Given the description of an element on the screen output the (x, y) to click on. 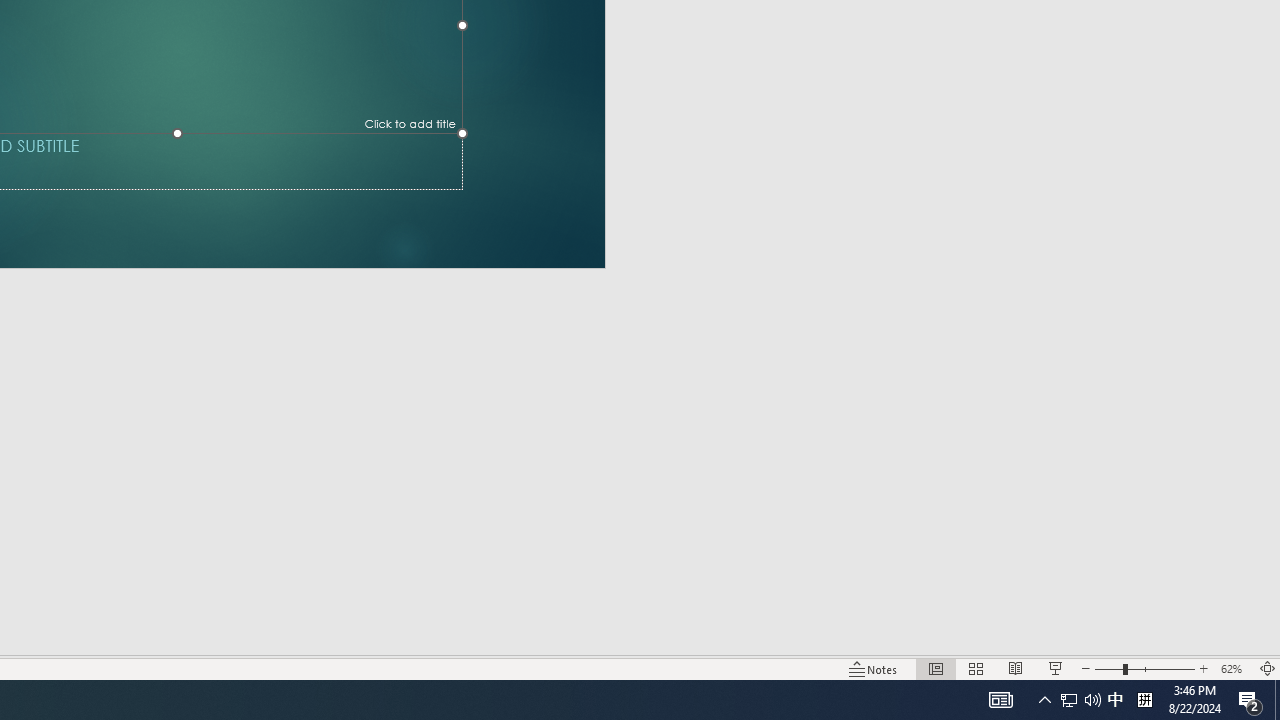
Zoom 62% (1234, 668)
